Given the description of an element on the screen output the (x, y) to click on. 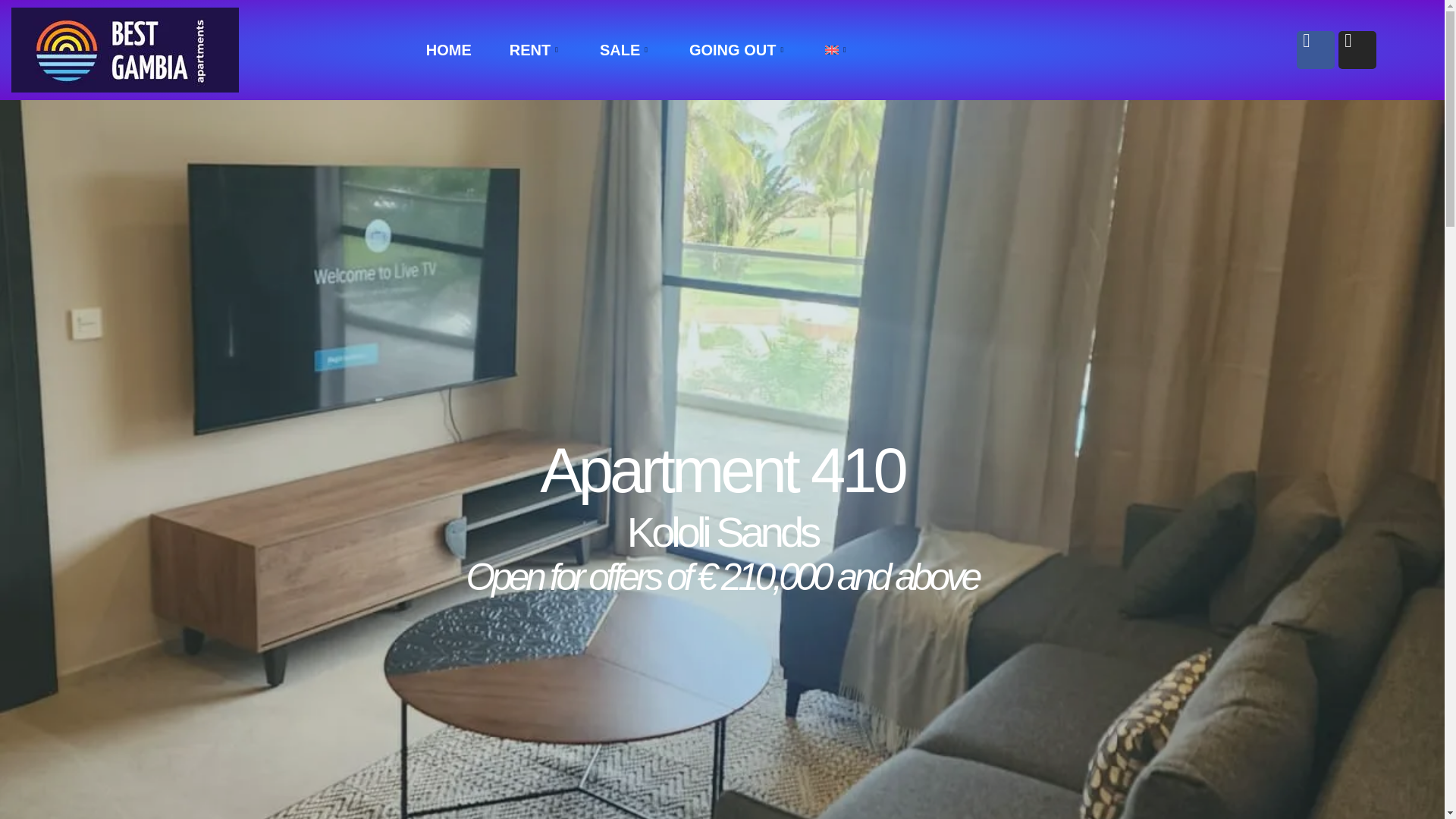
GOING OUT (737, 49)
HOME (448, 49)
SALE (624, 49)
RENT (535, 49)
